Given the description of an element on the screen output the (x, y) to click on. 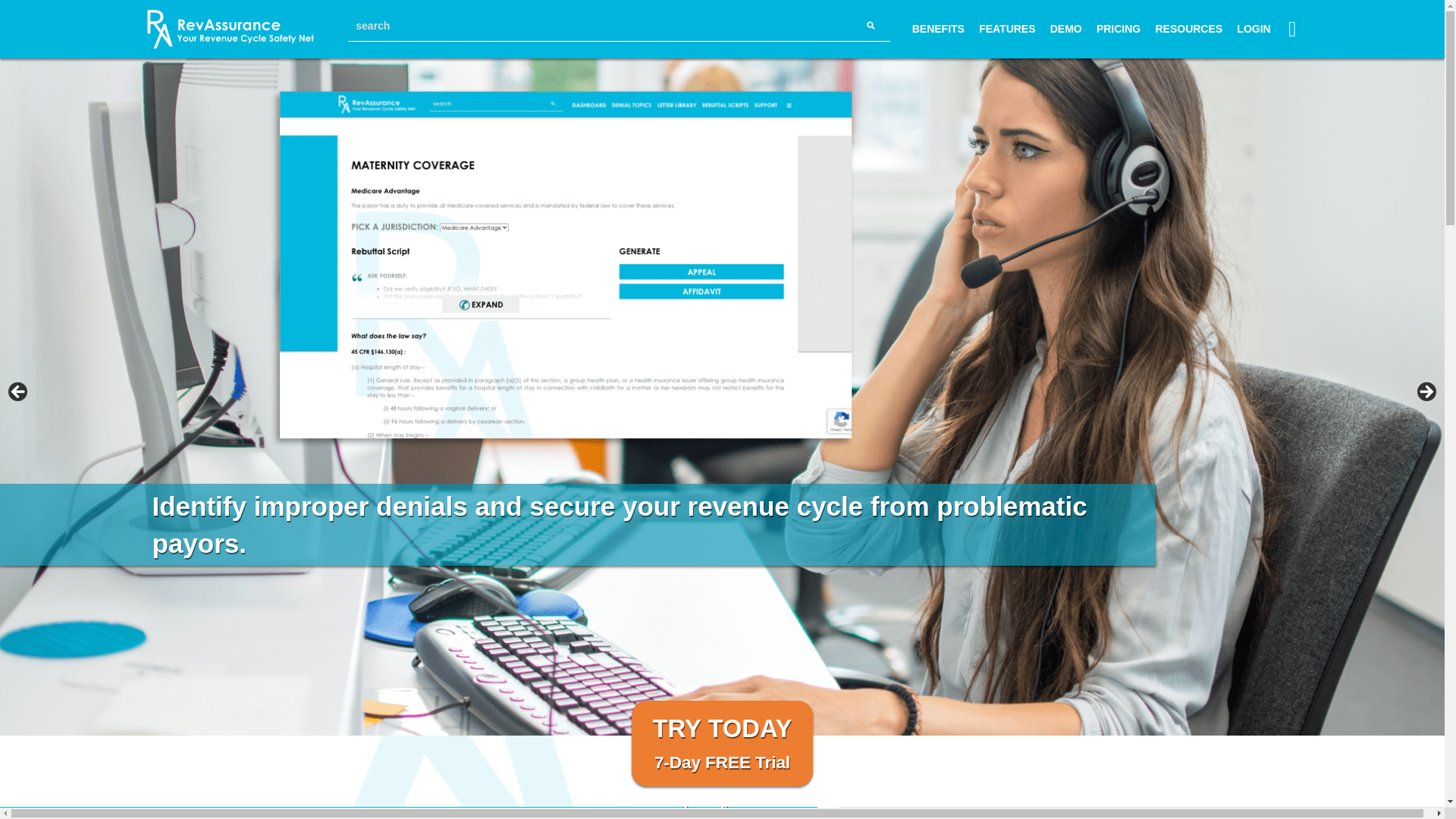
1 (704, 720)
RESOURCES (1188, 28)
3 (739, 720)
DEMO (722, 743)
View your shopping cart (1065, 28)
Slide 1-min (1294, 35)
FEATURES (480, 812)
LOGIN (1006, 28)
PRICING (1252, 28)
BENEFITS (1118, 28)
2 (937, 28)
